Given the description of an element on the screen output the (x, y) to click on. 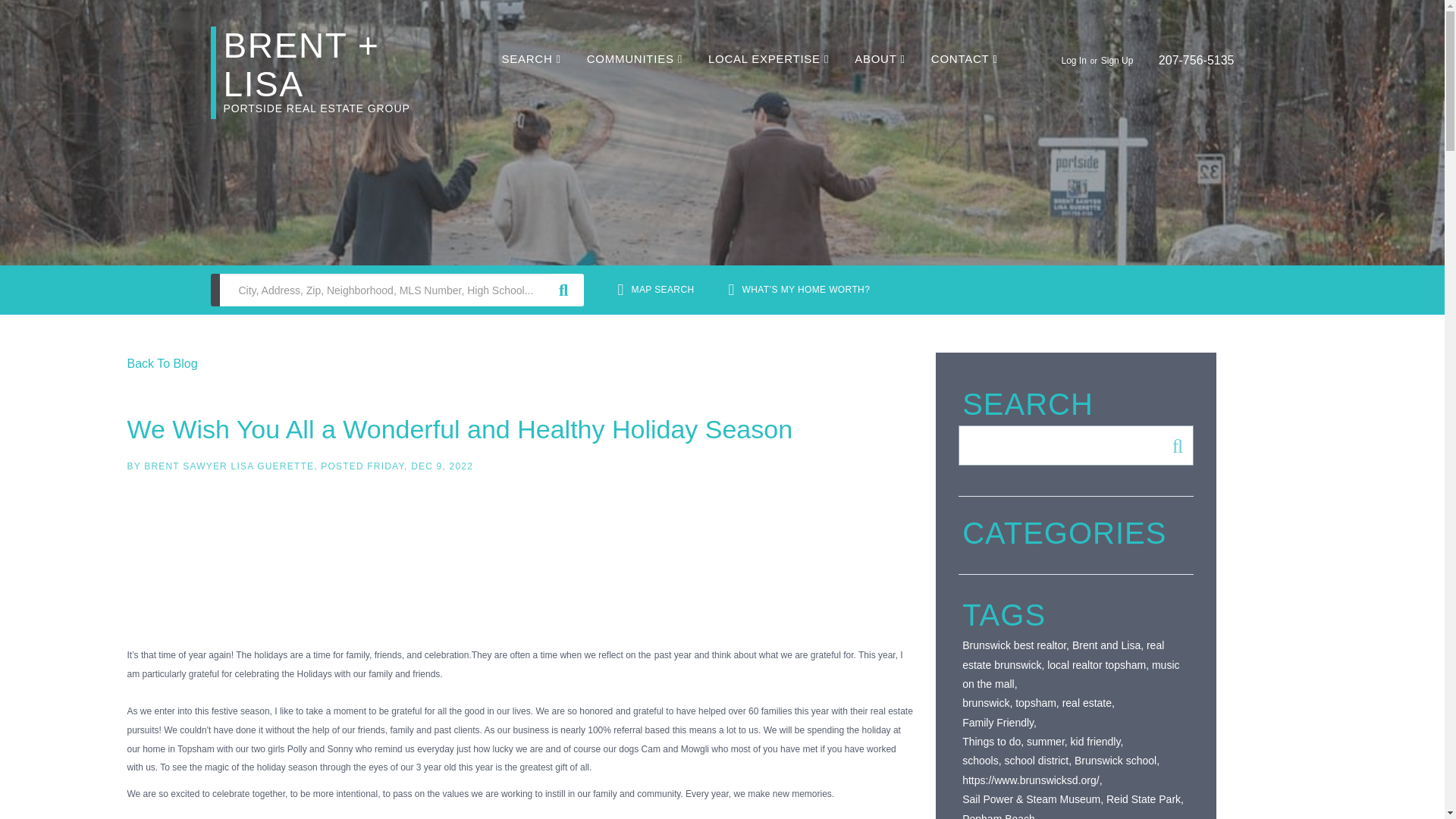
CONTACT (964, 58)
Search (1173, 445)
SEARCH (531, 58)
COMMUNITIES (634, 58)
ABOUT (879, 58)
LOCAL EXPERTISE (767, 58)
